Given the description of an element on the screen output the (x, y) to click on. 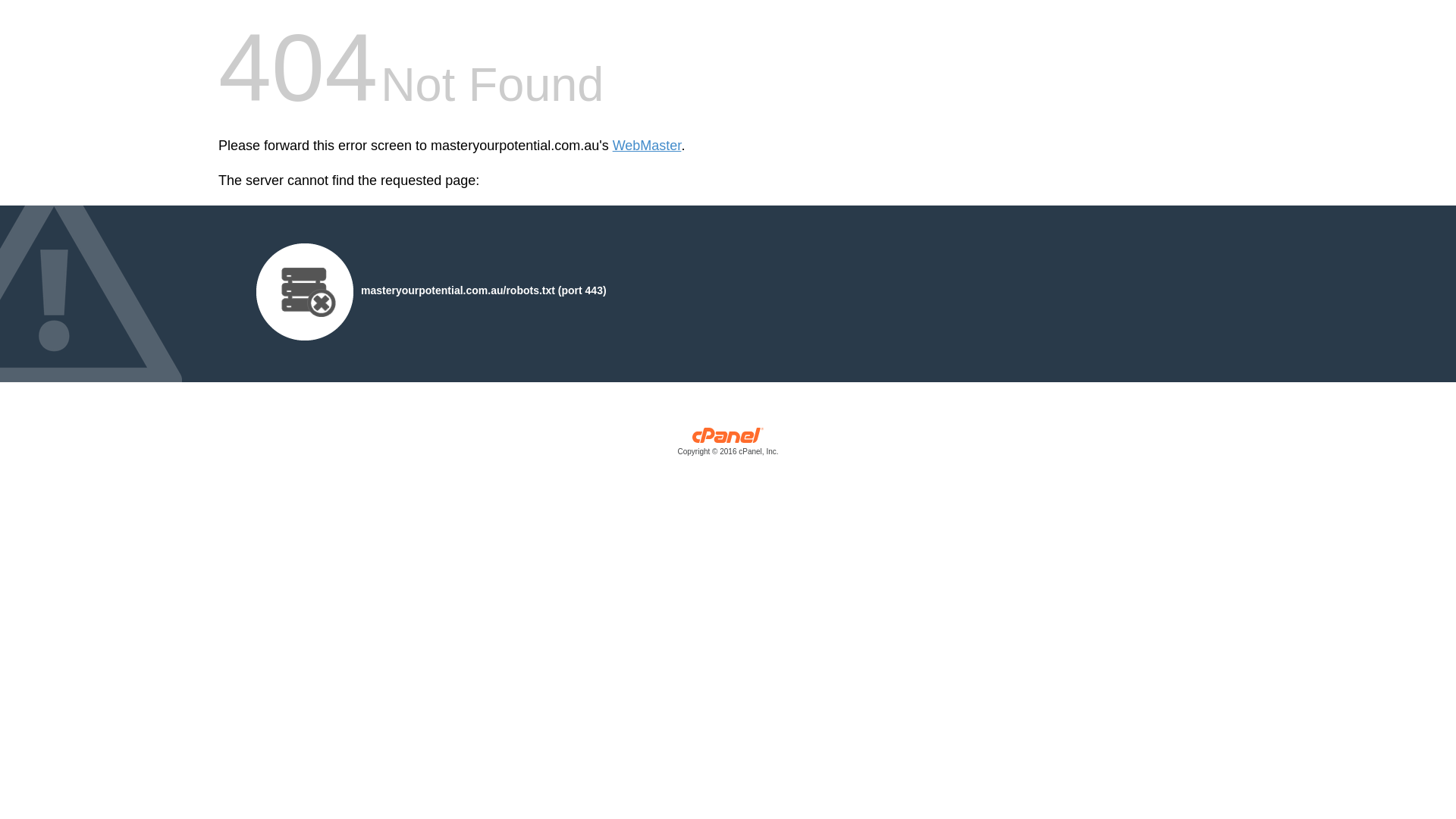
WebMaster Element type: text (646, 145)
